Given the description of an element on the screen output the (x, y) to click on. 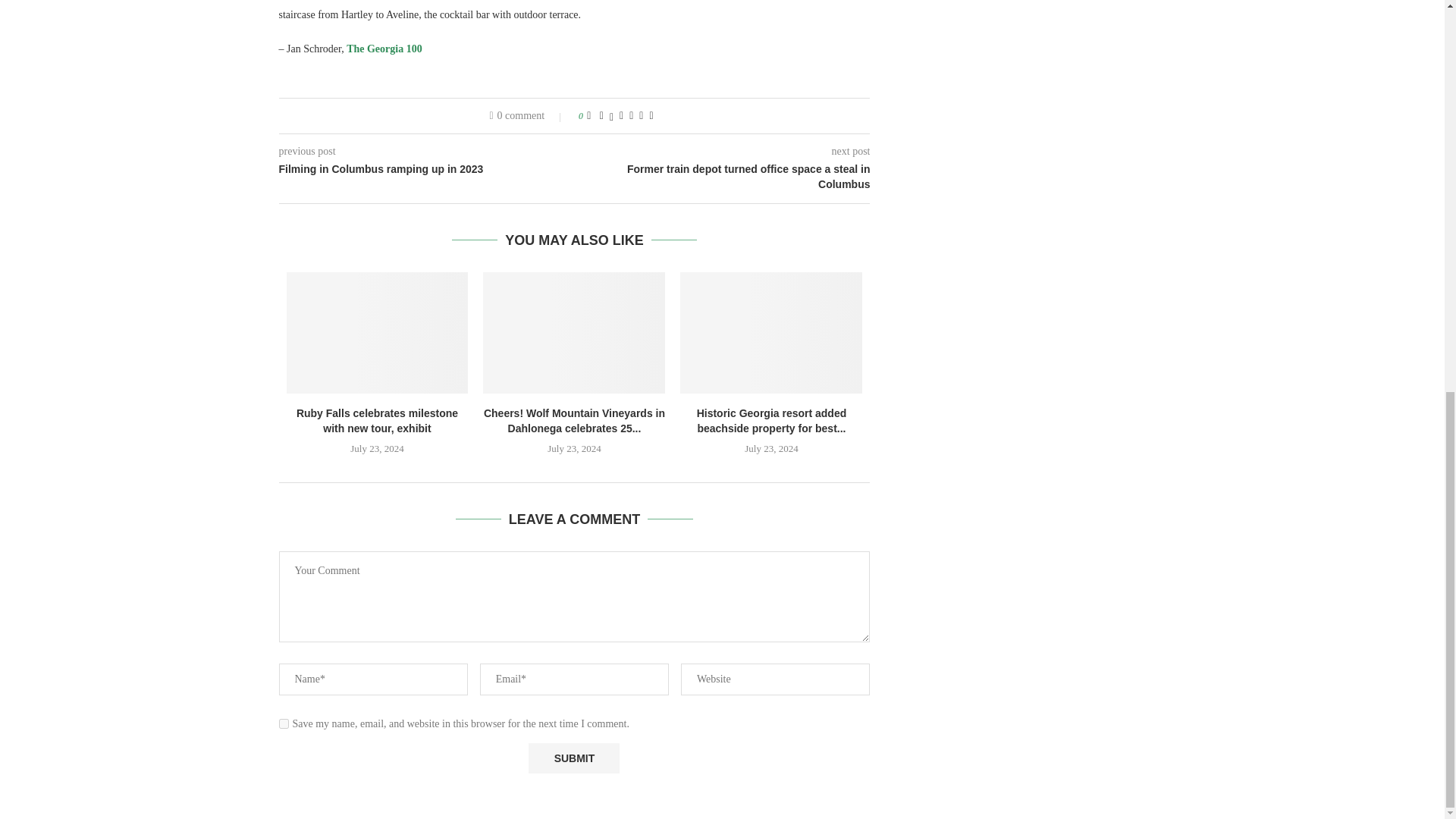
Submit (574, 757)
yes (283, 723)
